Given the description of an element on the screen output the (x, y) to click on. 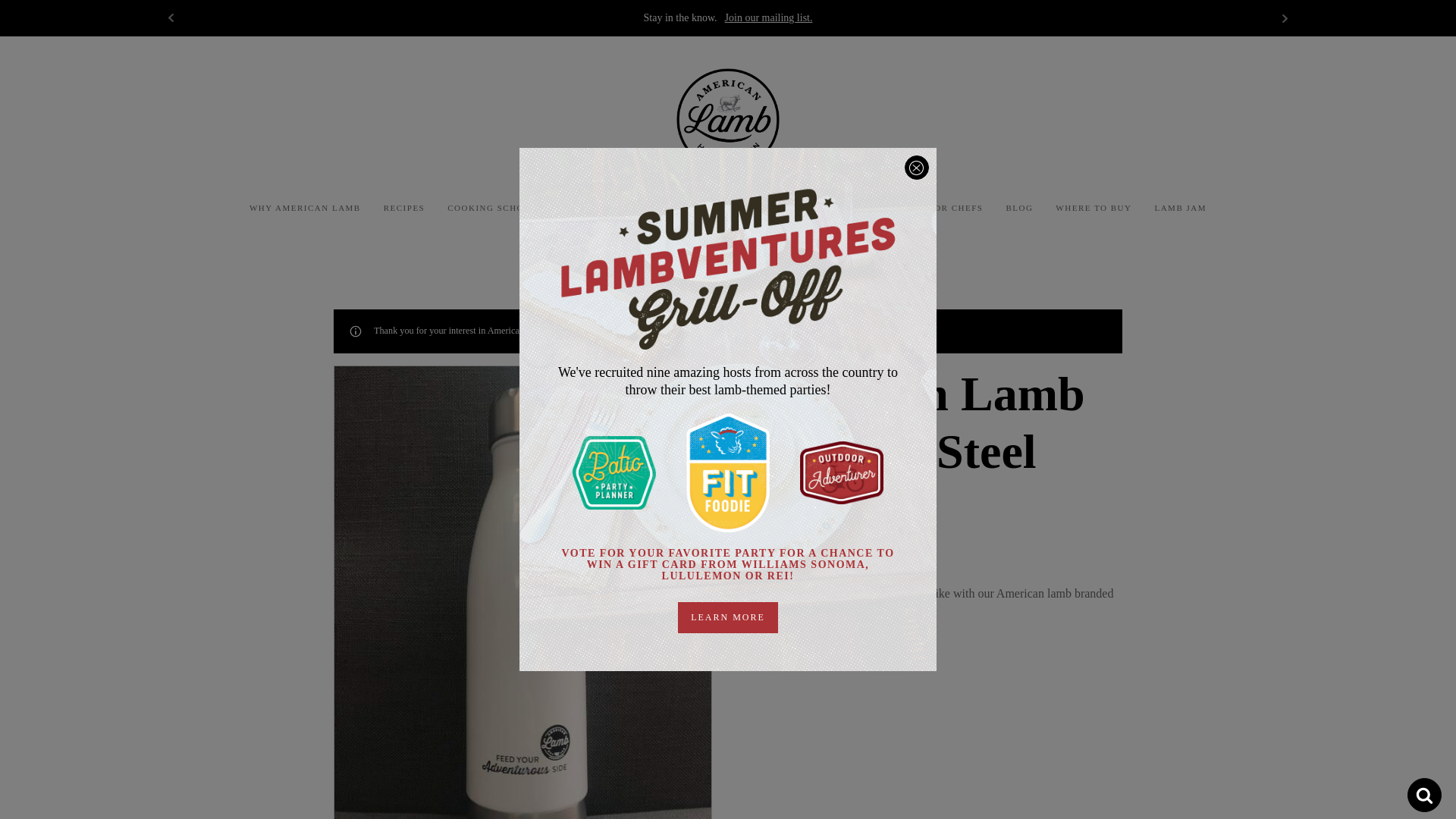
LAMB JAM (1179, 208)
Join our mailing list. (768, 17)
COOKING SCHOOL (491, 208)
WHERE TO BUY (1092, 208)
Prev (170, 17)
FOR CHEFS (955, 208)
WHY AMERICAN LAMB (305, 208)
Next (1284, 17)
NUTRITION (694, 208)
SUSTAINABILITY (602, 208)
BLOG (1018, 208)
RECIPES (404, 208)
